Given the description of an element on the screen output the (x, y) to click on. 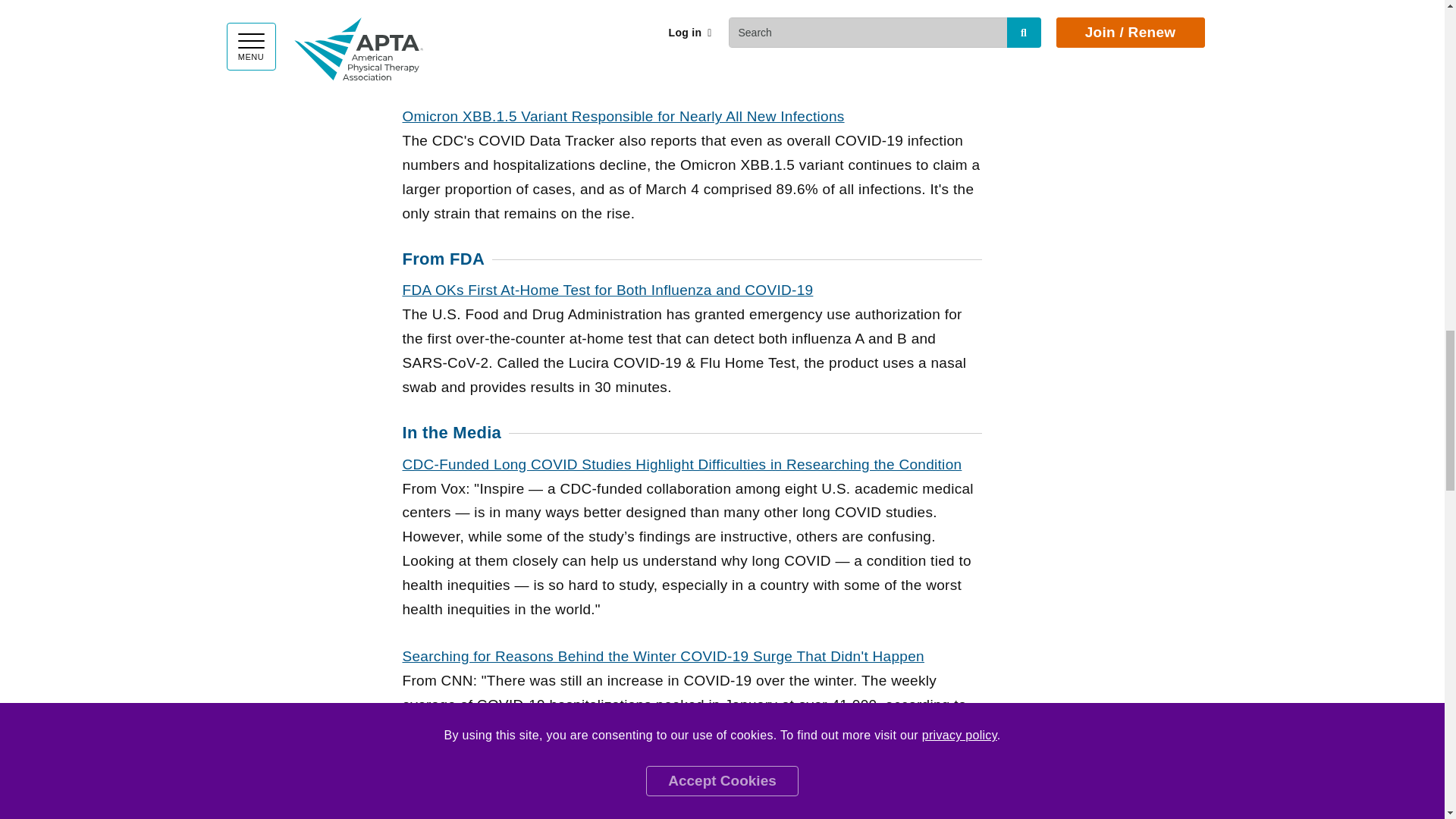
FDA press release (606, 289)
online article (680, 464)
online news report (662, 656)
CDC variant tracker page (622, 116)
